Given the description of an element on the screen output the (x, y) to click on. 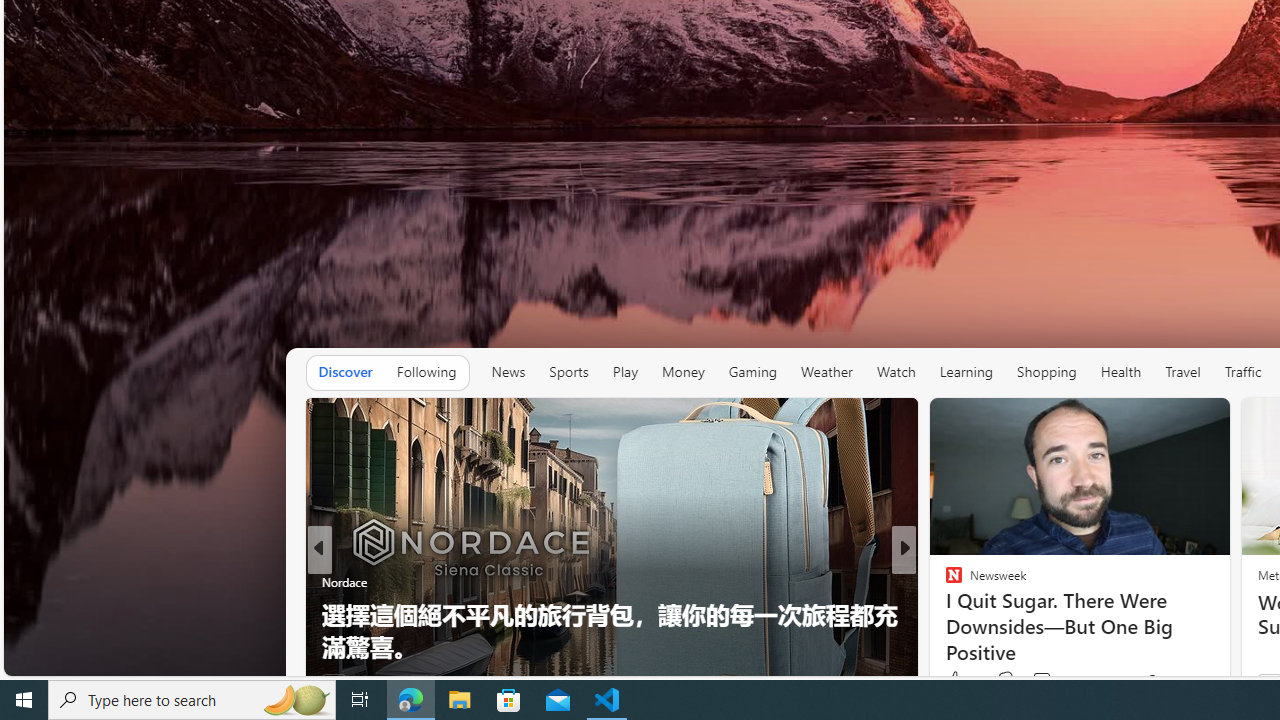
View comments 96 Comment (1035, 681)
View comments 48 Comment (1042, 681)
Gaming (752, 371)
Play (625, 372)
72 Like (956, 681)
View comments 48 Comment (1051, 681)
34 Like (956, 681)
